Given the description of an element on the screen output the (x, y) to click on. 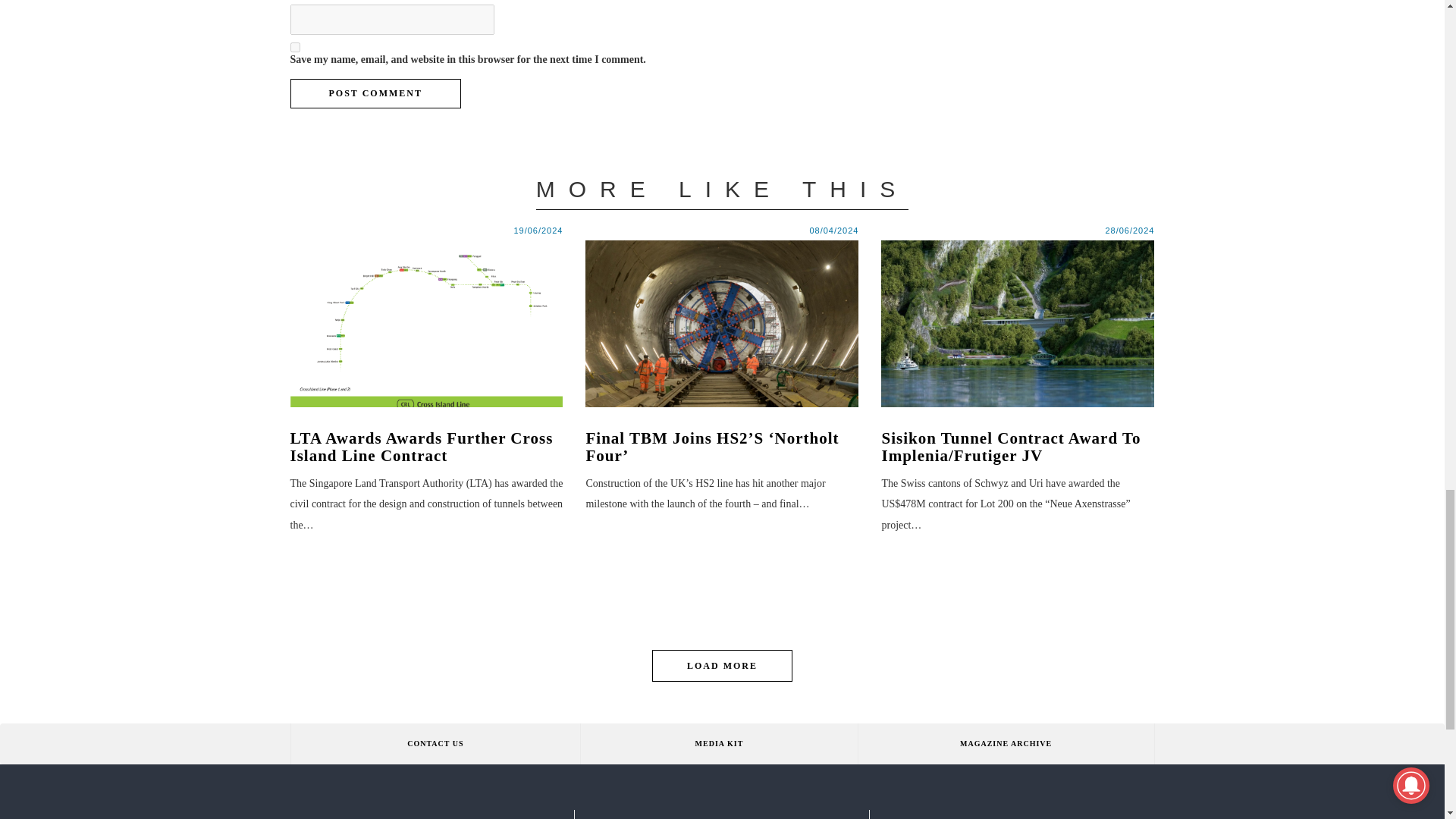
yes (294, 47)
LTA Awards awards further Cross Island Line contract (425, 323)
Post Comment (374, 93)
LTA Awards Awards Further Cross Island Line Contract (425, 447)
Post Comment (374, 93)
